Given the description of an element on the screen output the (x, y) to click on. 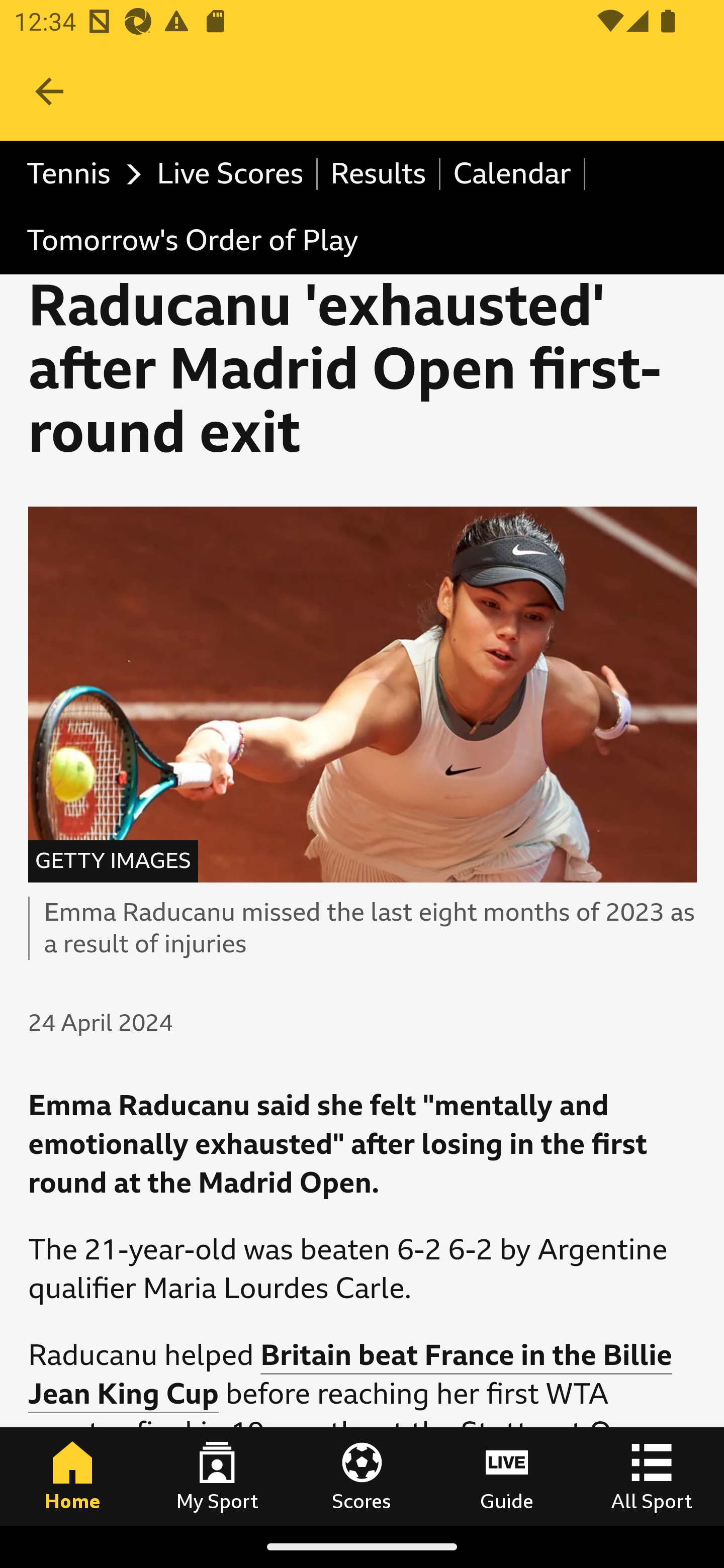
Navigate up (49, 91)
Tennis (79, 173)
Live Scores (231, 173)
Results (379, 173)
Calendar (512, 173)
Tomorrow's Order of Play (191, 240)
Britain beat France in the Billie Jean King Cup (351, 1375)
My Sport (216, 1475)
Scores (361, 1475)
Guide (506, 1475)
All Sport (651, 1475)
